Given the description of an element on the screen output the (x, y) to click on. 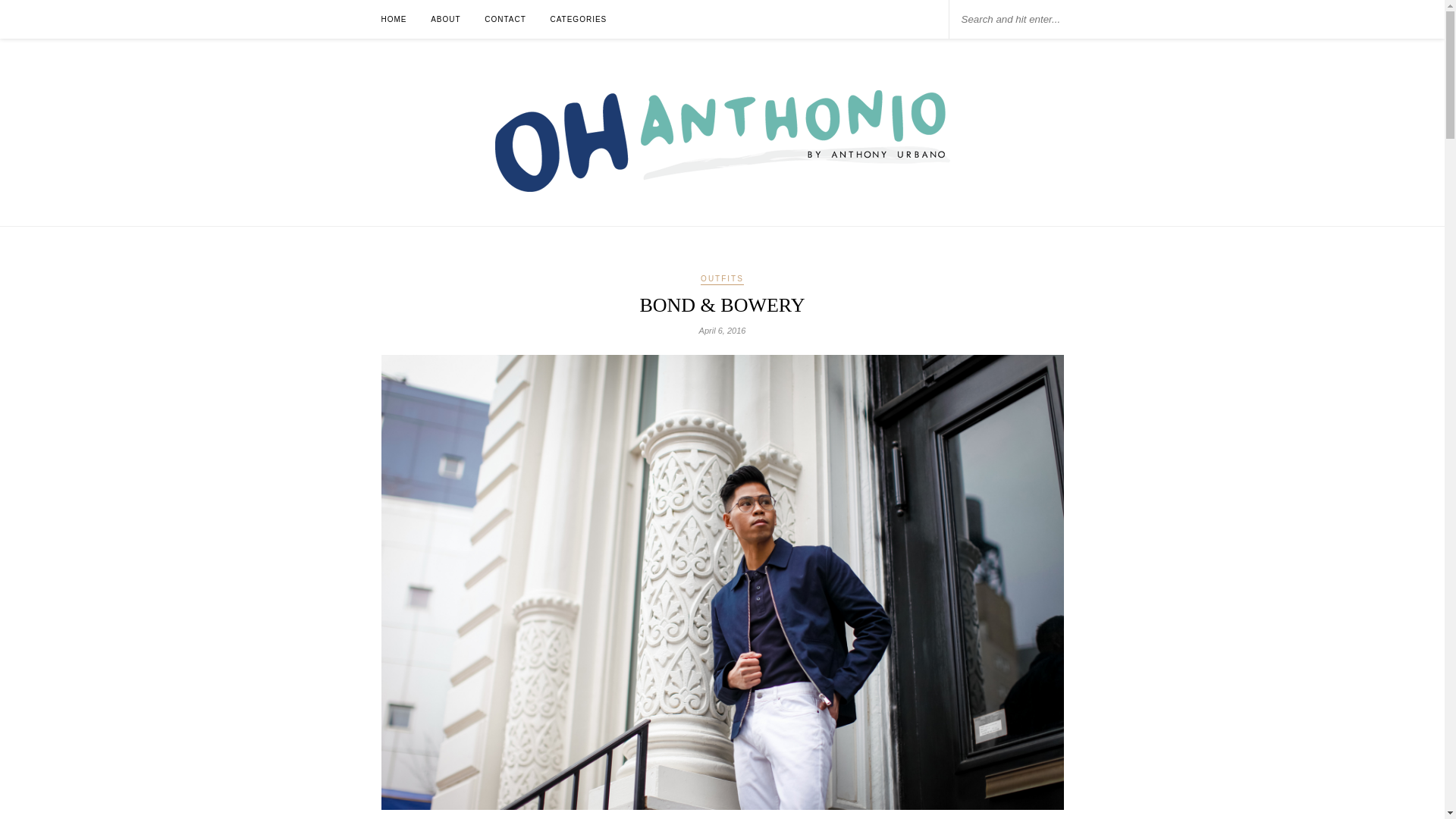
OUTFITS (722, 279)
CATEGORIES (578, 19)
View all posts in Outfits (722, 279)
CONTACT (504, 19)
